Given the description of an element on the screen output the (x, y) to click on. 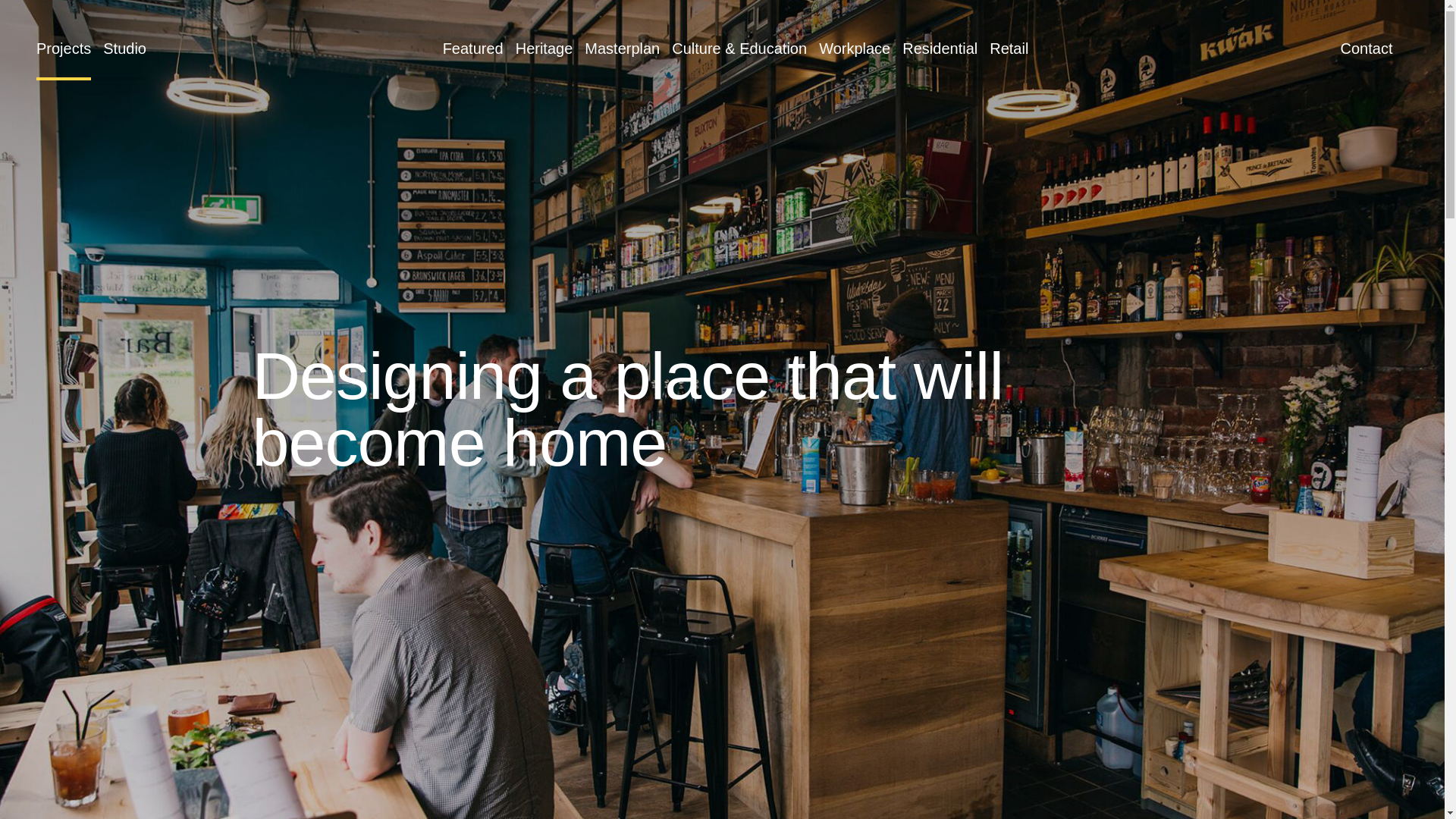
Masterplan (622, 49)
Residential (939, 49)
Featured (472, 49)
Workplace (853, 49)
Contact (1365, 49)
Heritage (544, 49)
